Given the description of an element on the screen output the (x, y) to click on. 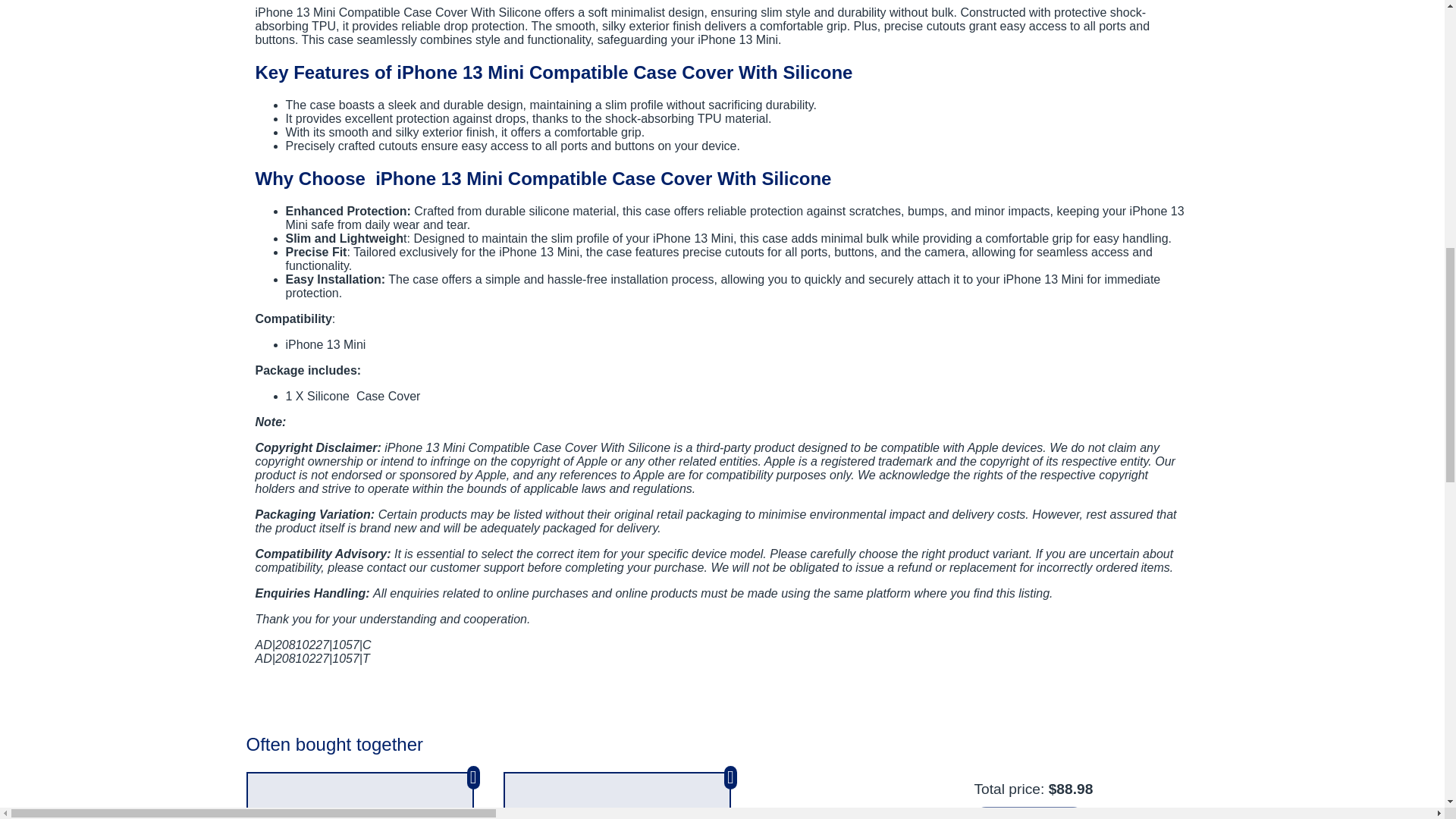
Take the deal (1028, 812)
